Given the description of an element on the screen output the (x, y) to click on. 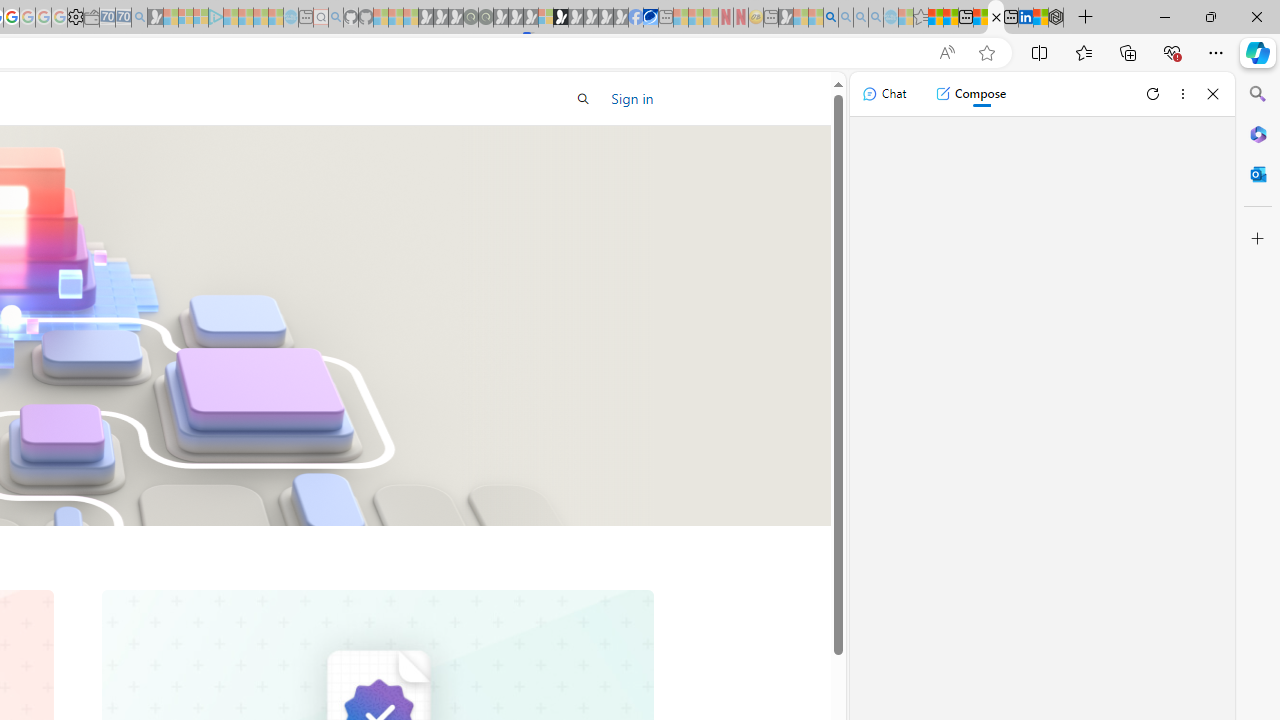
Aberdeen, Hong Kong SAR weather forecast | Microsoft Weather (950, 17)
